Given the description of an element on the screen output the (x, y) to click on. 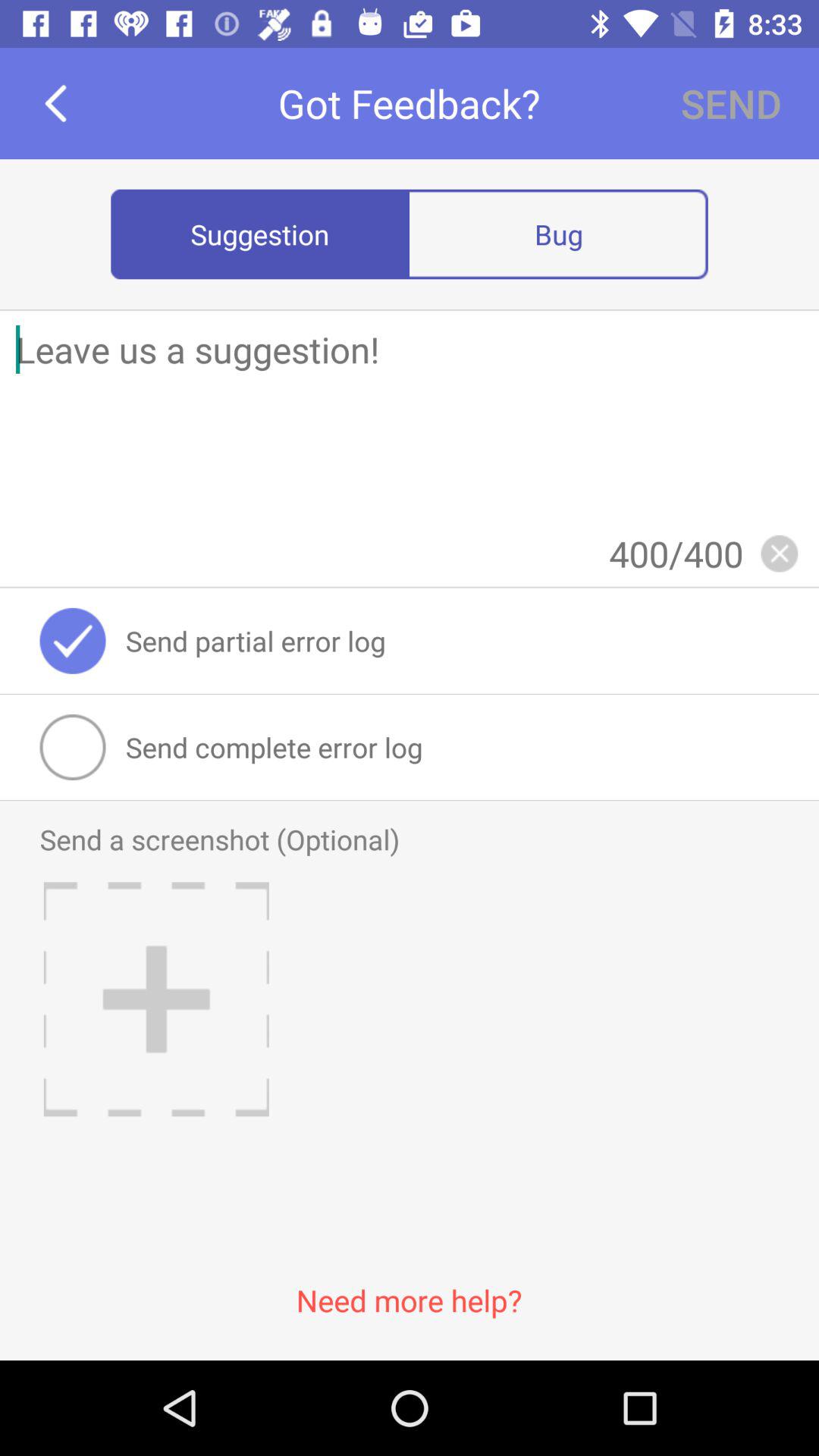
click the bug item (558, 234)
